Given the description of an element on the screen output the (x, y) to click on. 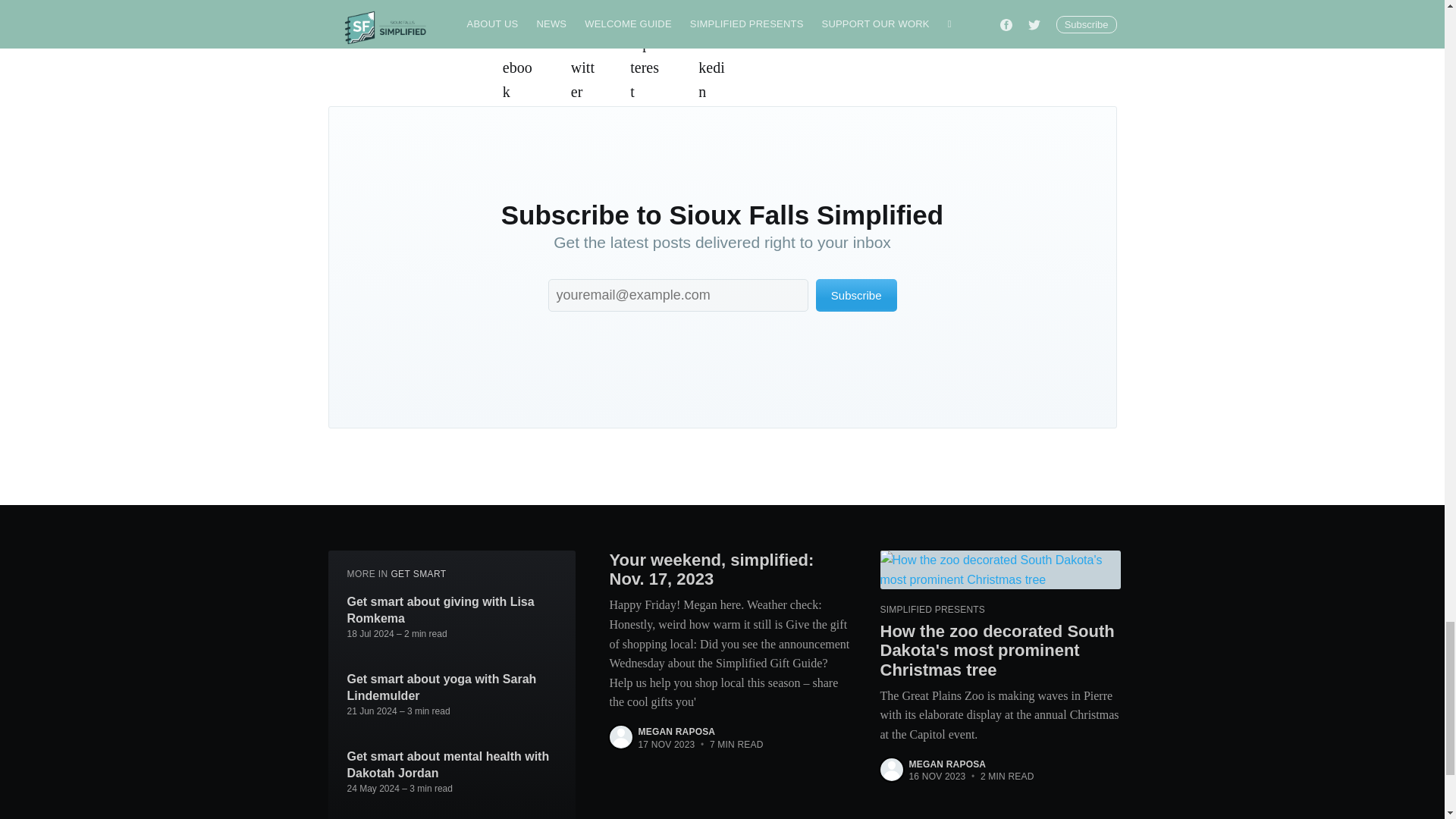
Get smart about yoga with Sarah Lindemulder (451, 686)
MEGAN RAPOSA (677, 731)
GET SMART (417, 573)
Get smart about giving with Lisa Romkema (451, 609)
Subscribe (855, 295)
Get smart about mental health with Dakotah Jordan (451, 764)
MEGAN RAPOSA (946, 764)
